Given the description of an element on the screen output the (x, y) to click on. 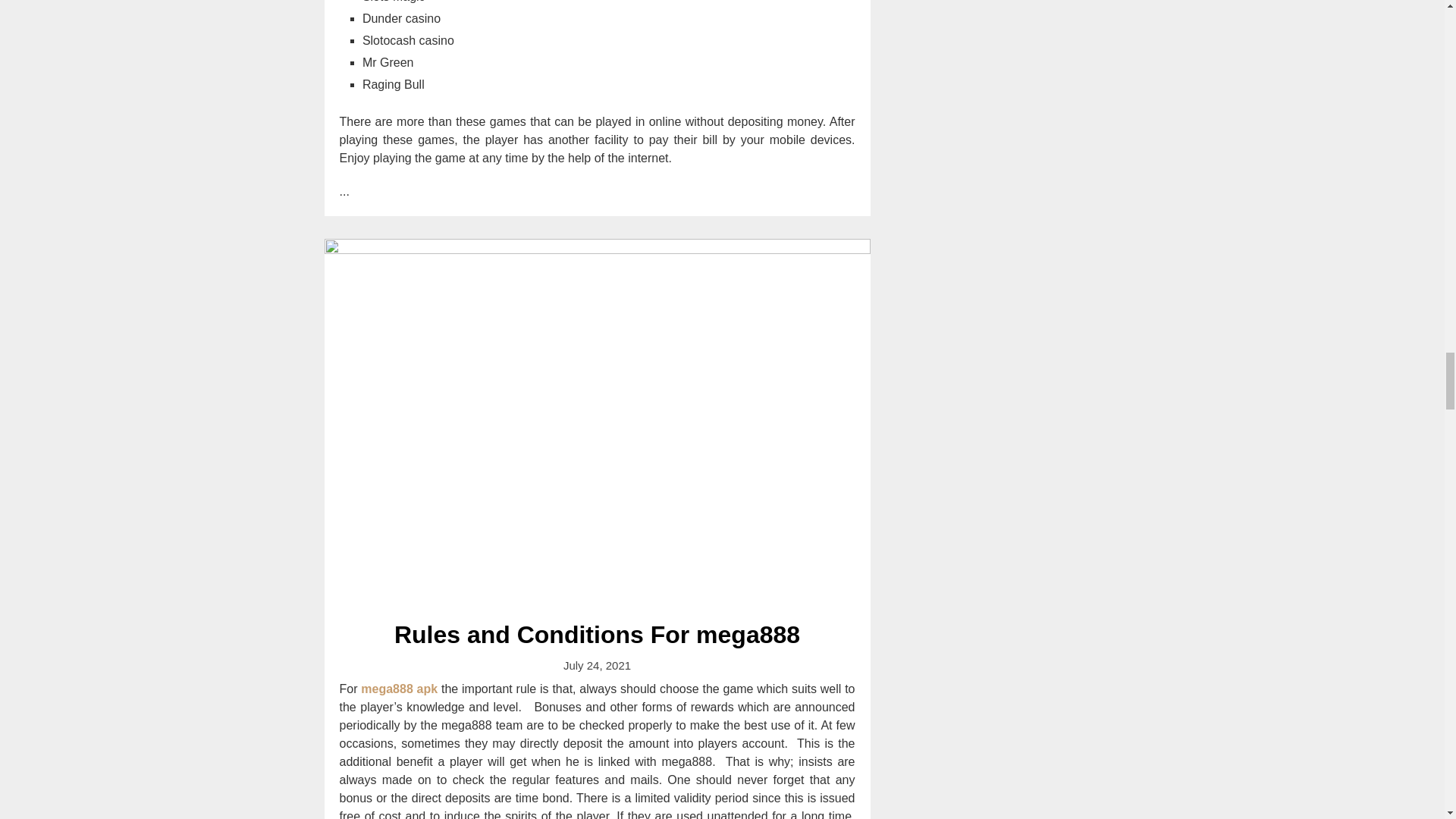
Rules and Conditions For mega888 (596, 634)
Rules and Conditions For mega888 (596, 634)
mega888 apk (399, 688)
